Given the description of an element on the screen output the (x, y) to click on. 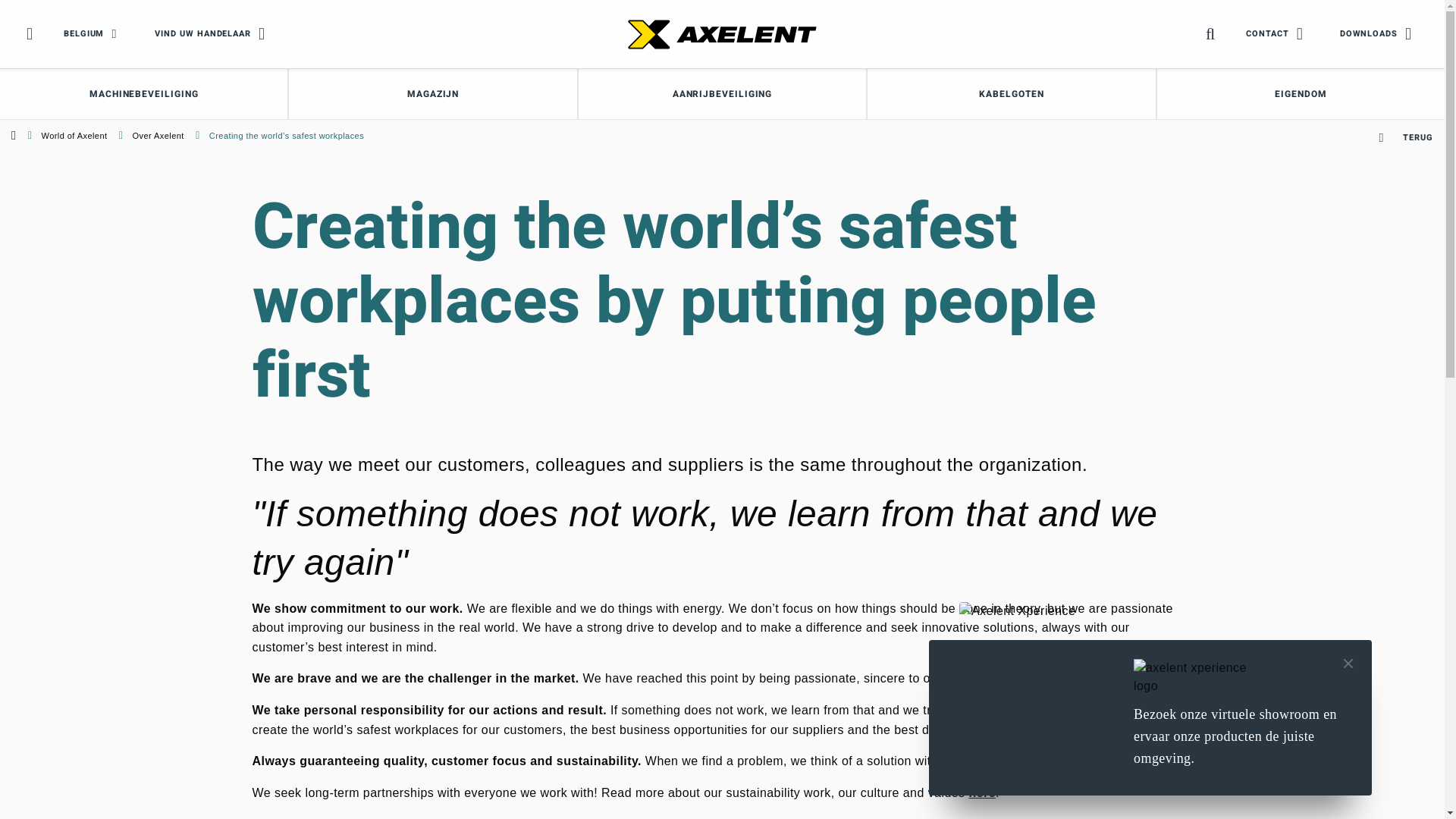
MAGAZIJN Element type: text (432, 94)
VIND UW HANDELAAR Element type: text (212, 33)
DOWNLOADS Element type: text (1378, 33)
KABELGOTEN Element type: text (1010, 94)
Over Axelent Element type: text (158, 135)
EIGENDOM Element type: text (1300, 94)
here Element type: text (981, 792)
Visit Axelent Xperience Element type: hover (1031, 674)
MACHINEBEVEILIGING Element type: text (143, 94)
World of Axelent Element type: text (74, 135)
AANRIJBEVEILIGING Element type: text (722, 94)
TERUG Element type: text (1405, 137)
Logo for Axelent Xperience Element type: hover (1200, 676)
BELGIUM Element type: text (93, 33)
CONTACT Element type: text (1277, 33)
